Given the description of an element on the screen output the (x, y) to click on. 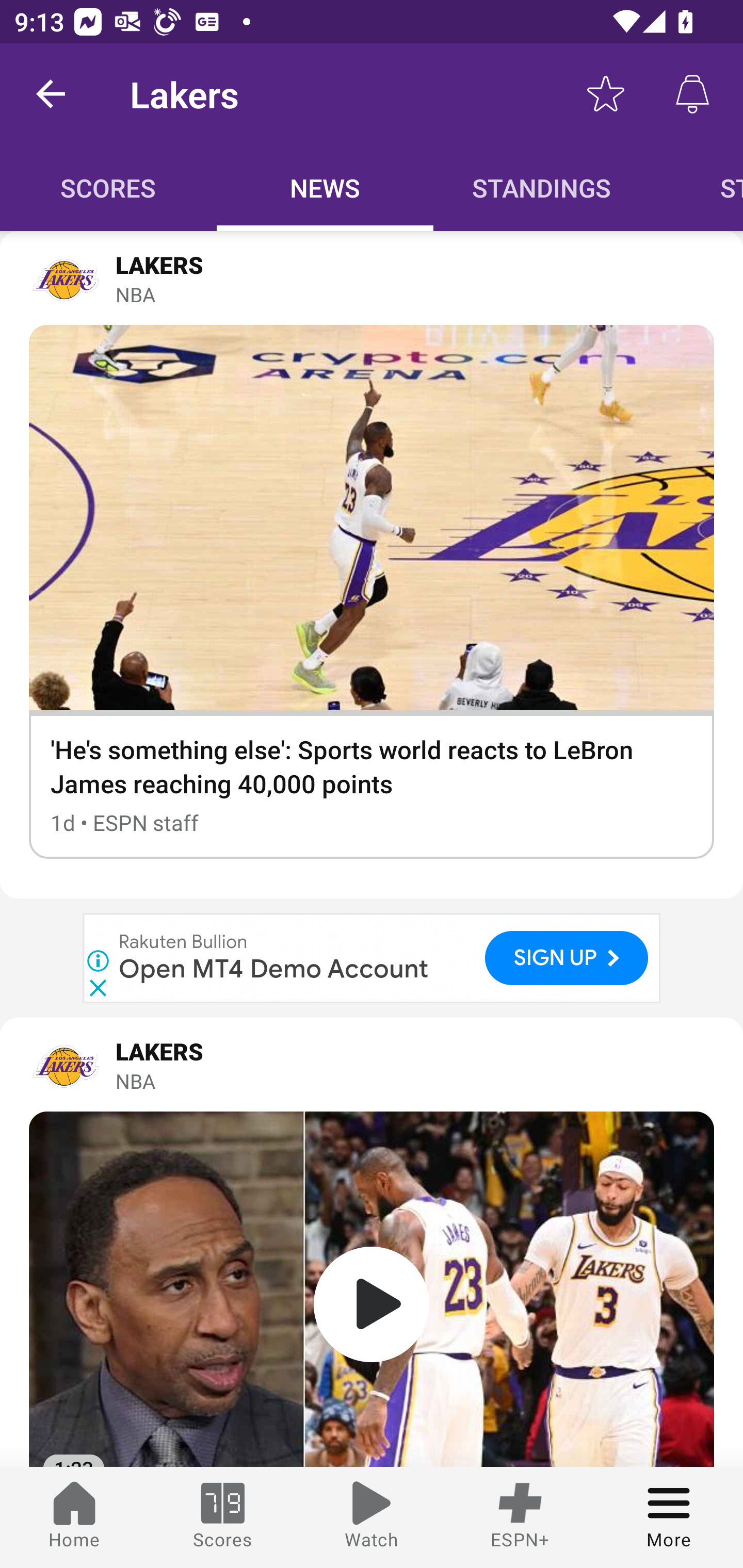
back.button (50, 93)
Favorite toggle (605, 93)
Alerts (692, 93)
Scores SCORES (108, 187)
Standings STANDINGS (541, 187)
LAKERS NBA (371, 277)
Rakuten Bullion (183, 942)
SIGN UP (566, 957)
Open MT4 Demo Account (274, 968)
LAKERS NBA (371, 1064)
 1:23 (371, 1289)
Home (74, 1517)
Scores (222, 1517)
Watch (371, 1517)
ESPN+ (519, 1517)
